Given the description of an element on the screen output the (x, y) to click on. 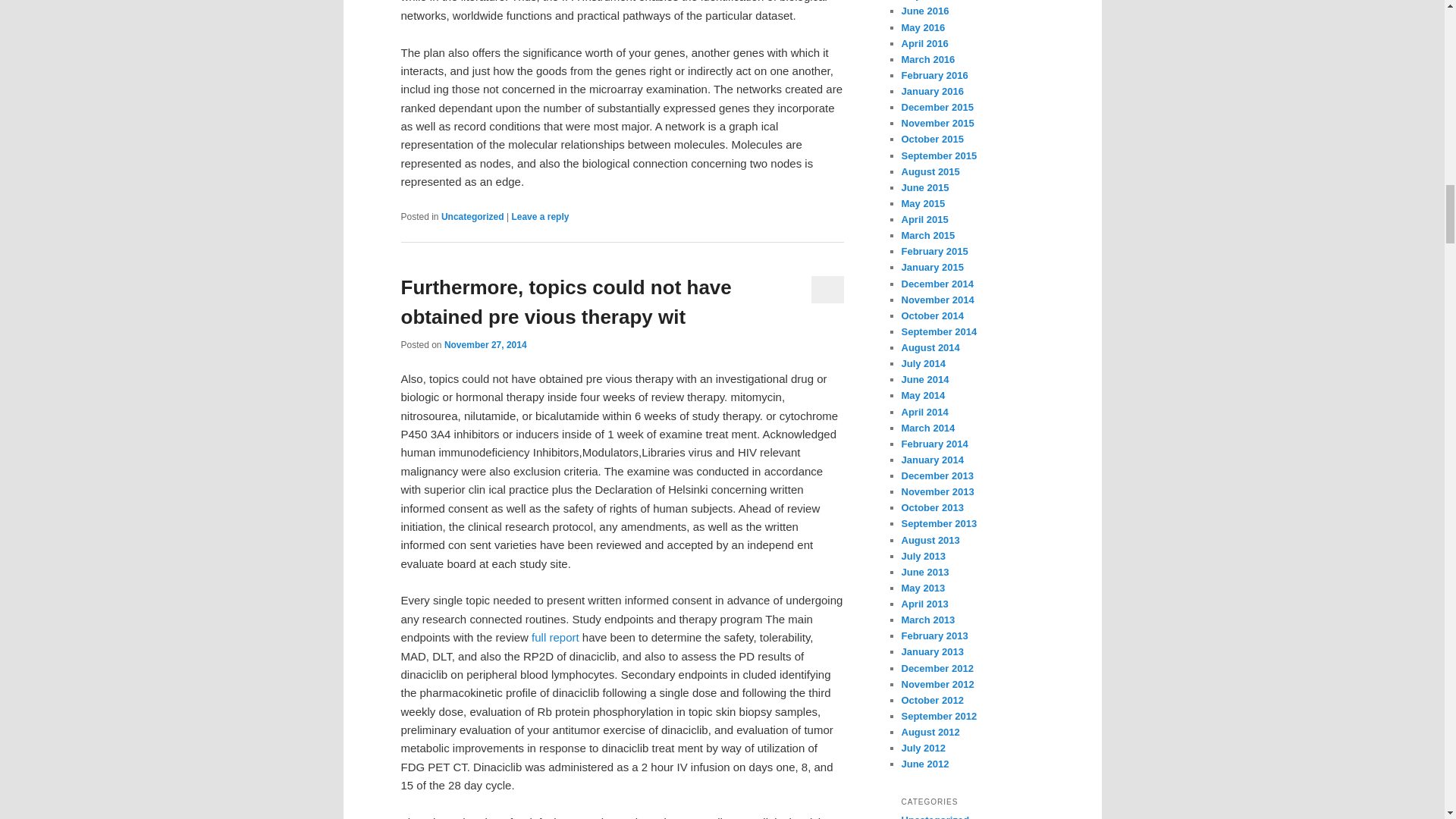
full report (555, 636)
Uncategorized (472, 216)
Leave a reply (540, 216)
View all posts in Uncategorized (472, 216)
November 27, 2014 (485, 344)
